Given the description of an element on the screen output the (x, y) to click on. 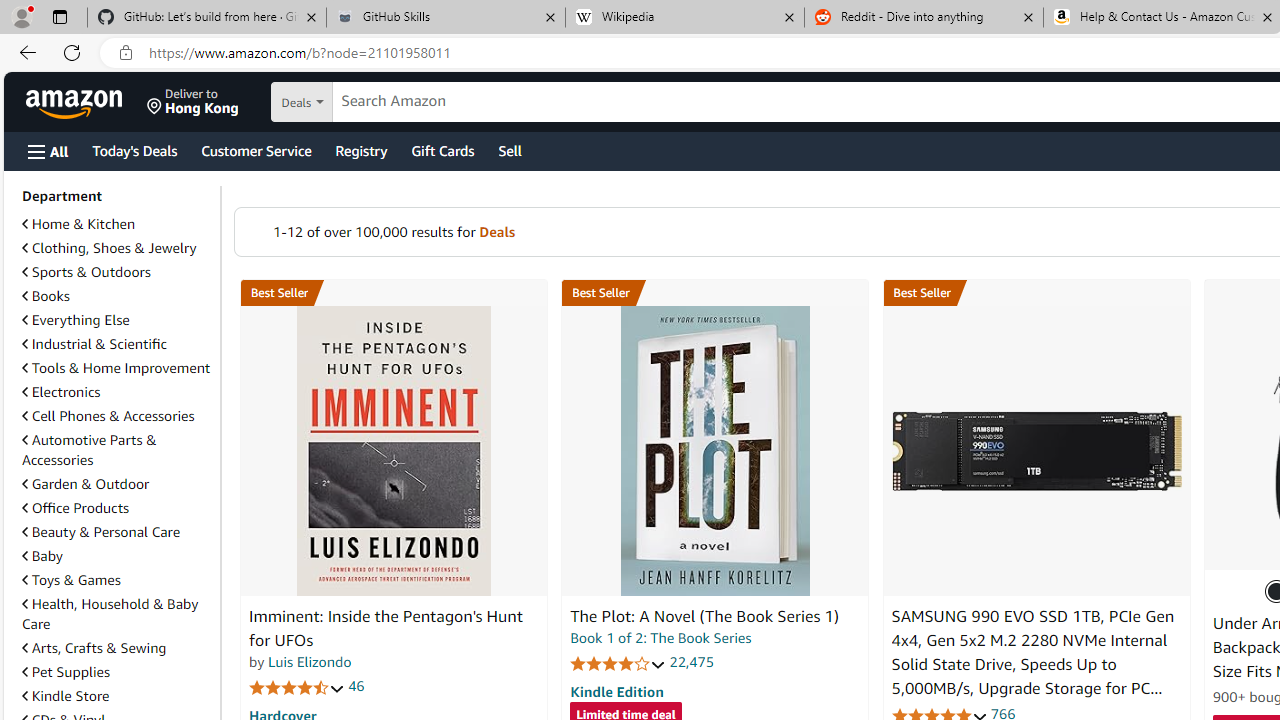
Arts, Crafts & Sewing (93, 647)
Baby (117, 555)
Health, Household & Baby Care (109, 613)
Deliver to Hong Kong (193, 101)
Toys & Games (117, 579)
Tools & Home Improvement (116, 368)
Automotive Parts & Accessories (117, 449)
4.7 out of 5 stars (297, 686)
Open Menu (48, 151)
46 (356, 686)
Search in (371, 102)
Arts, Crafts & Sewing (117, 647)
Cell Phones & Accessories (107, 415)
